Given the description of an element on the screen output the (x, y) to click on. 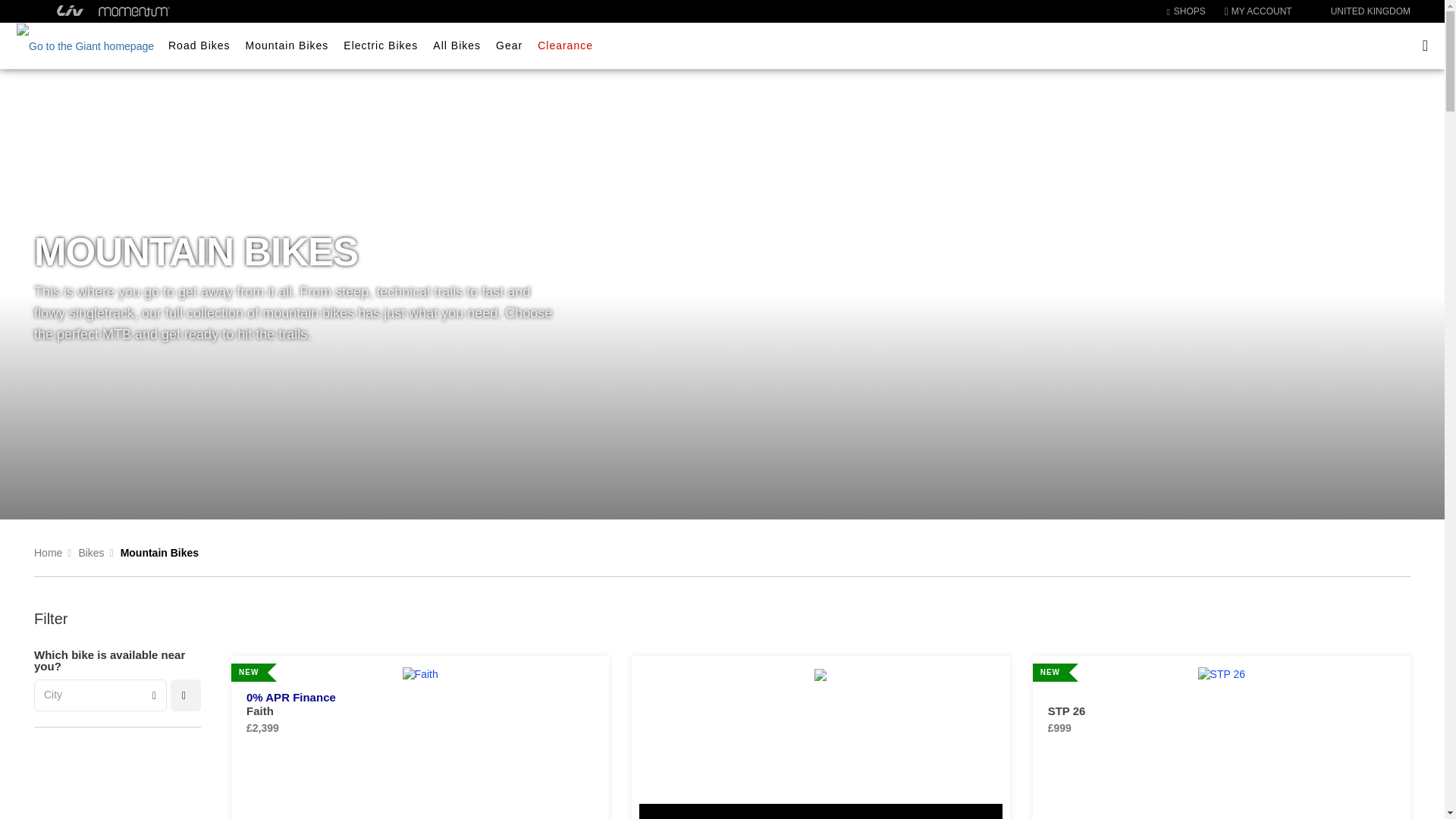
Shops (1185, 11)
Road Bikes (199, 44)
All Bikes (456, 44)
UNITED KINGDOM (1362, 11)
Liv (69, 10)
SHOPS (1185, 11)
Electric Bikes (380, 44)
Mountain Bikes (287, 44)
Momentum (134, 11)
